Given the description of an element on the screen output the (x, y) to click on. 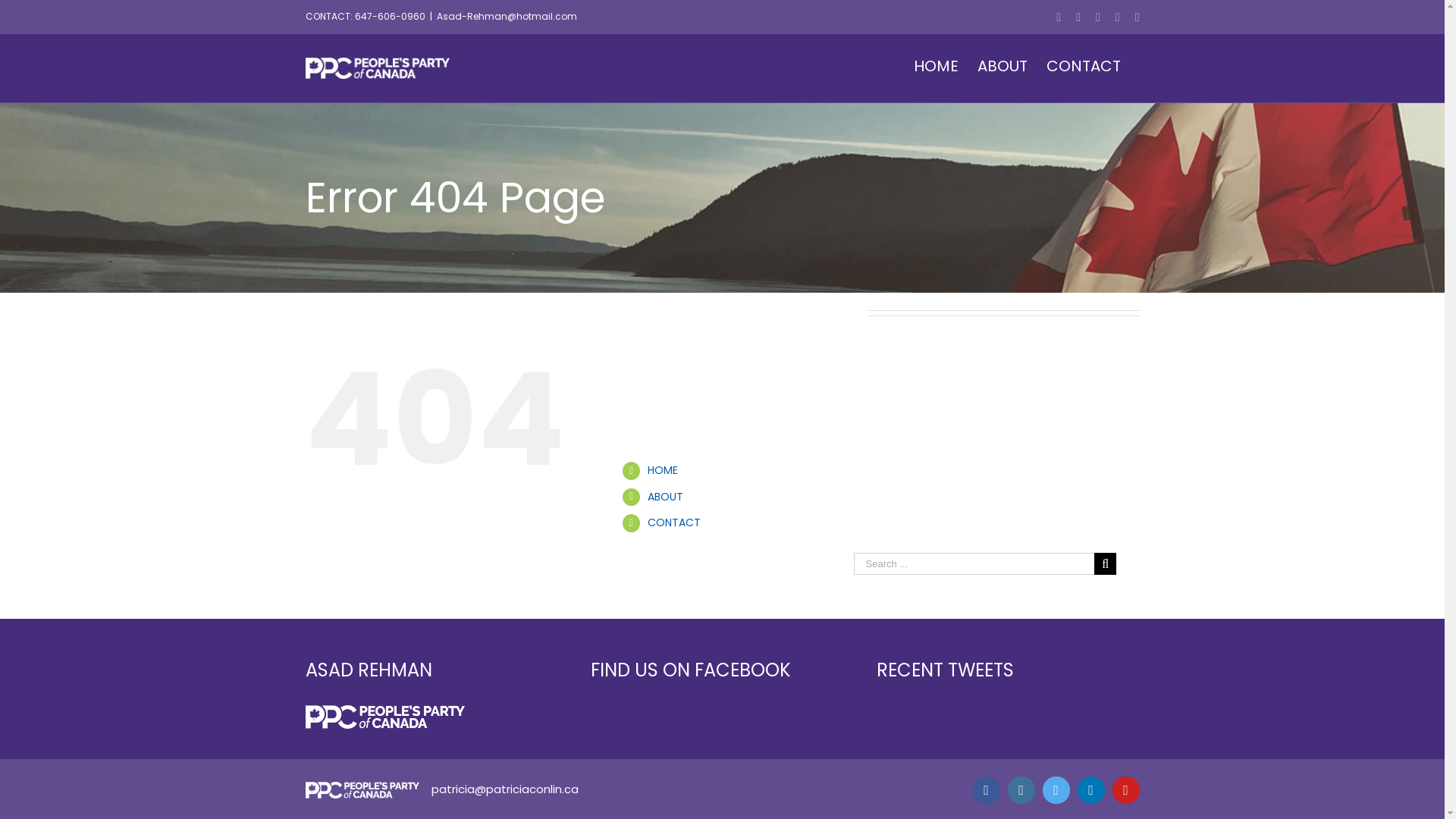
YouTube Element type: text (1137, 16)
Asad-Rehman@hotmail.com Element type: text (506, 15)
Instagram Element type: text (1020, 789)
HOME Element type: text (935, 65)
Twitter Element type: text (1055, 789)
Twitter Element type: text (1097, 16)
CONTACT Element type: text (673, 522)
YouTube Element type: text (1125, 789)
CONTACT Element type: text (1083, 65)
ABOUT Element type: text (665, 496)
HOME Element type: text (662, 469)
Facebook Element type: text (1058, 16)
Facebook Element type: text (985, 789)
Instagram Element type: text (1078, 16)
patricia@patriciaconlin.ca Element type: text (503, 789)
ABOUT Element type: text (1001, 65)
LinkedIn Element type: text (1090, 789)
LinkedIn Element type: text (1117, 16)
